Given the description of an element on the screen output the (x, y) to click on. 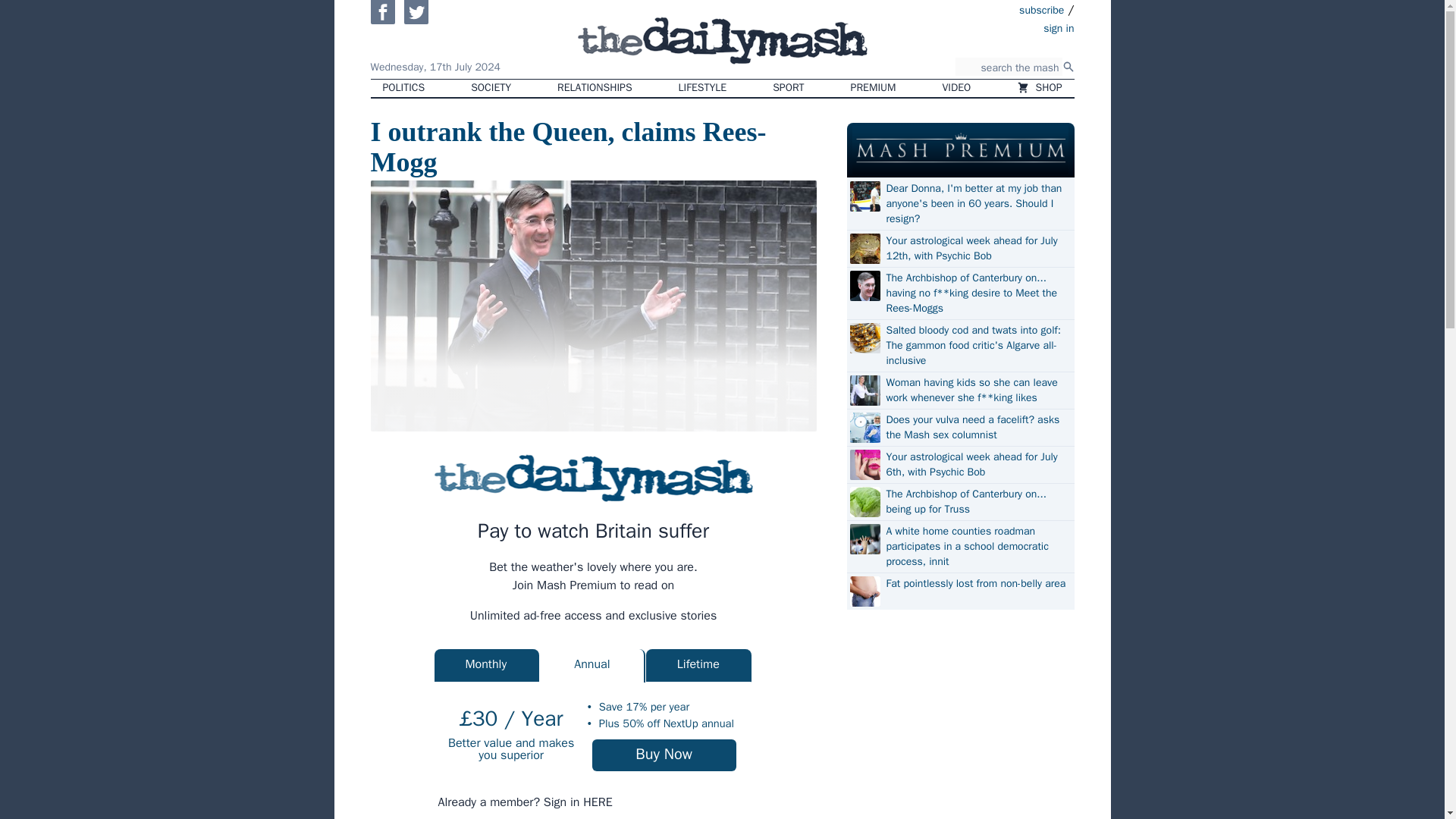
Buy Now (664, 755)
SOCIETY (490, 88)
Search (1067, 66)
SHOP (1039, 88)
LIFESTYLE (702, 88)
POLITICS (402, 88)
PREMIUM (873, 88)
RELATIONSHIPS (593, 88)
Your astrological week ahead for July 12th, with Psychic Bob (977, 248)
sign in (970, 27)
subscribe (1041, 9)
VIDEO (957, 88)
SPORT (787, 88)
